Given the description of an element on the screen output the (x, y) to click on. 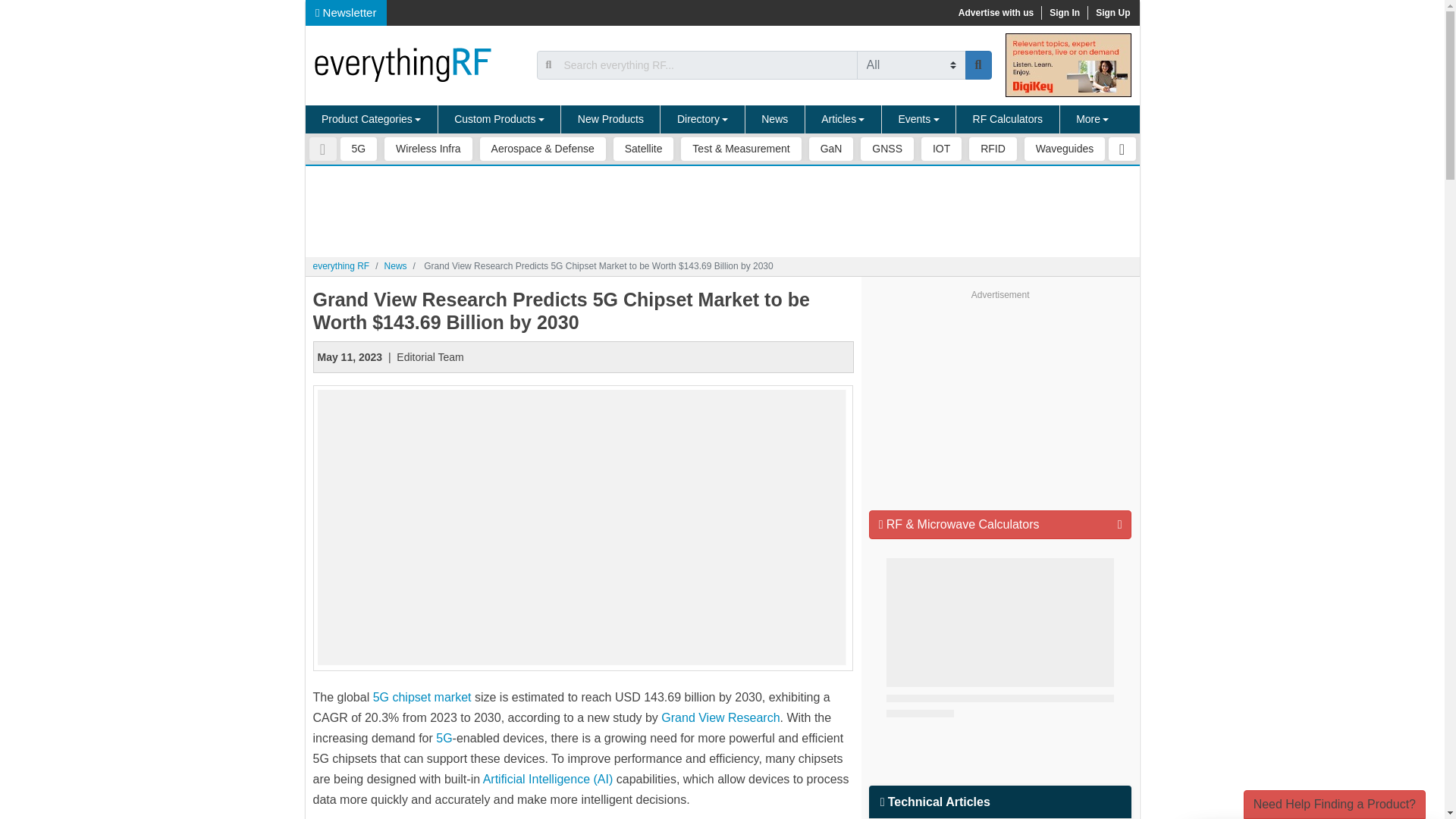
Newsletter (345, 12)
Sign In (1064, 12)
Product Categories (371, 119)
Sign Up (1112, 12)
Advertise with us (995, 12)
